Given the description of an element on the screen output the (x, y) to click on. 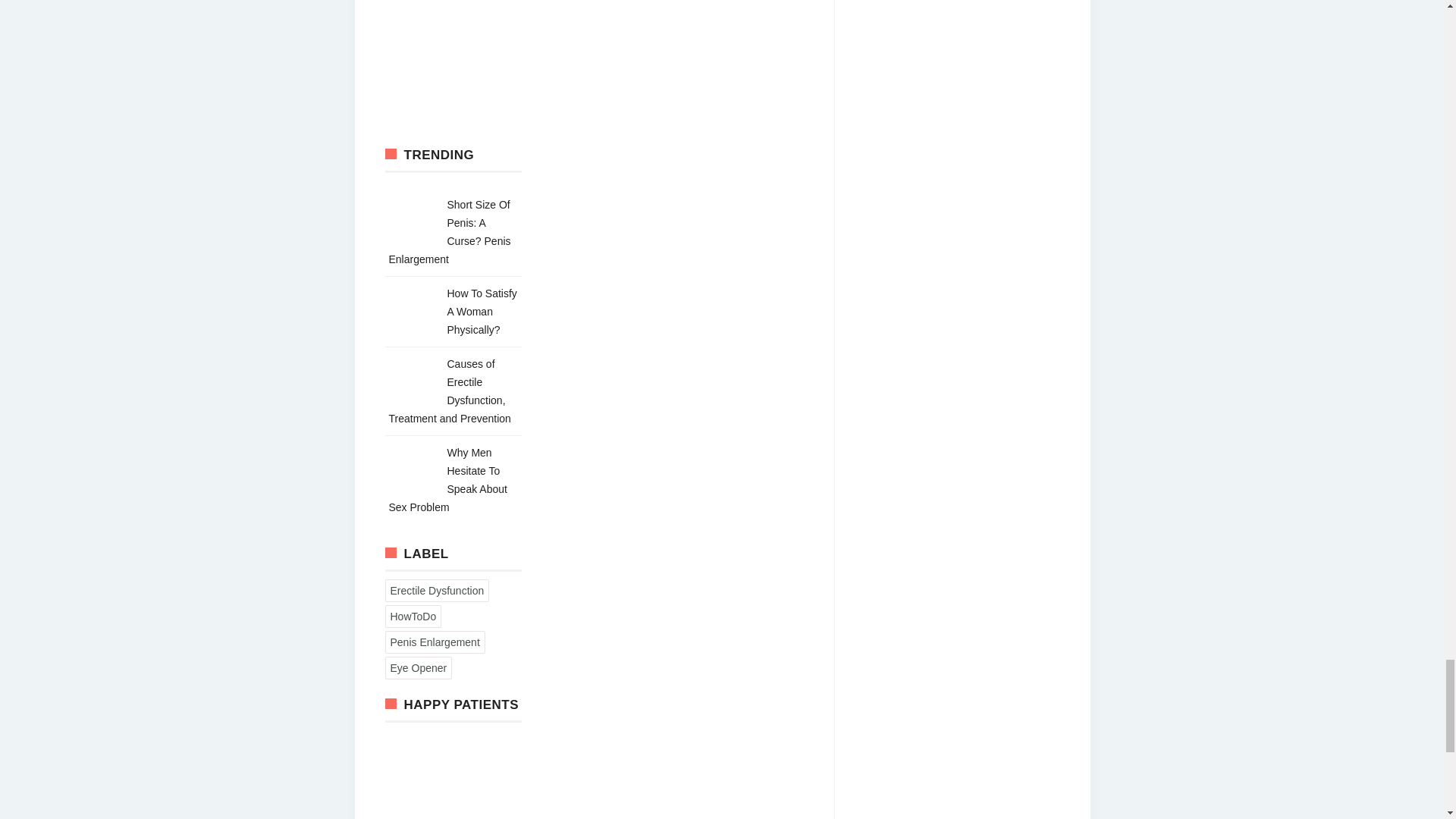
Short Size Of Penis: A Curse? Penis Enlargement (449, 232)
How To Satisfy A Woman Physically? (481, 311)
Erectile Dysfunction (436, 590)
Causes of Erectile Dysfunction, Treatment and Prevention (449, 391)
Why Men Hesitate To Speak About Sex Problem (447, 479)
HowToDo (413, 616)
